Given the description of an element on the screen output the (x, y) to click on. 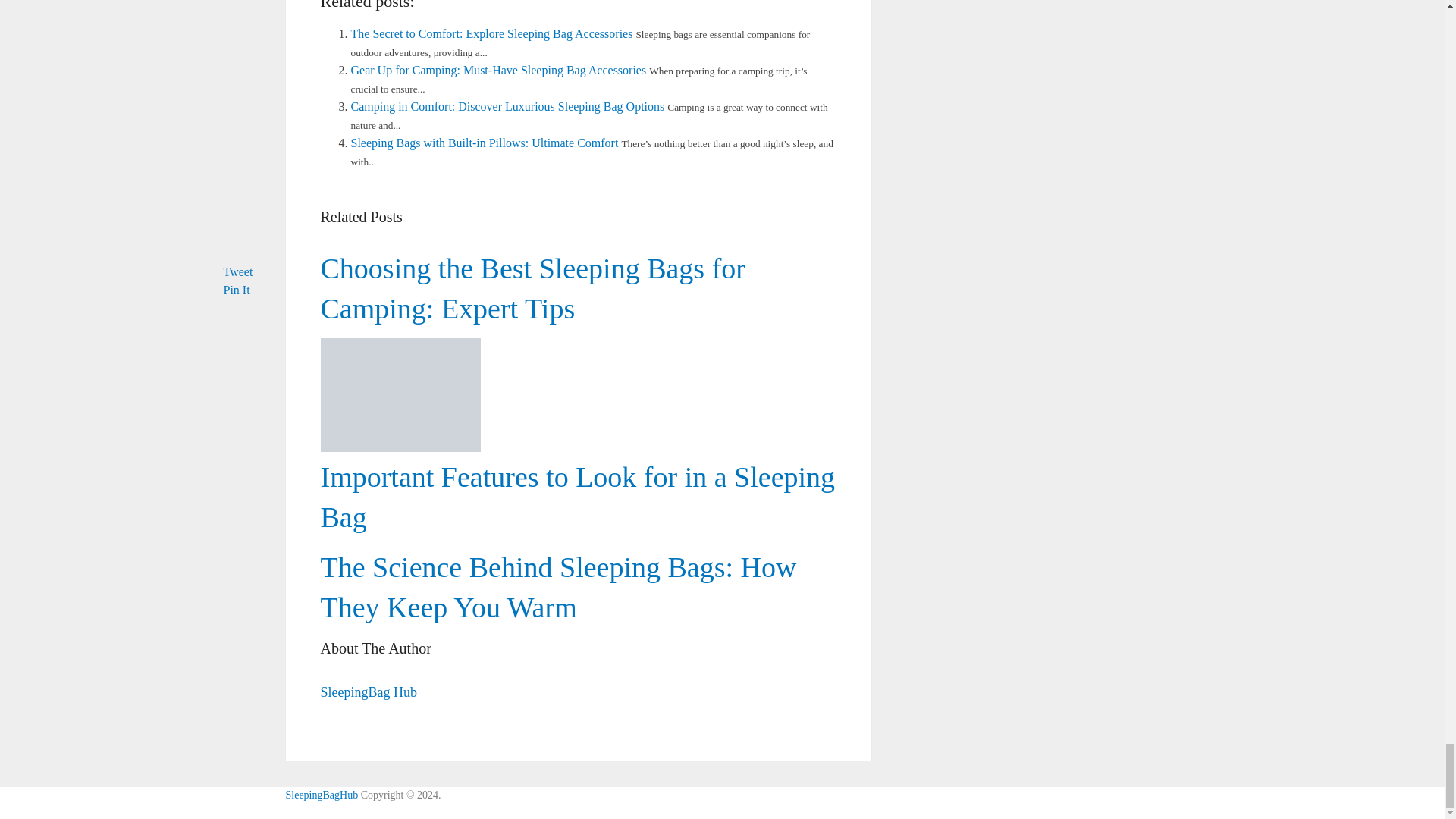
The Secret to Comfort: Explore Sleeping Bag Accessories (490, 33)
Choosing the Best Sleeping Bags for Camping: Expert Tips (532, 288)
Important Features to Look for in a Sleeping Bag 1 (400, 395)
 SleepingBagHub (321, 794)
The Secret to Comfort: Explore Sleeping Bag Accessories (490, 33)
Gear Up for Camping: Must-Have Sleeping Bag Accessories (498, 69)
Sleeping Bags with Built-in Pillows: Ultimate Comfort (483, 142)
Important Features to Look for in a Sleeping Bag (577, 497)
Important Features to Look for in a Sleeping Bag (577, 352)
Gear Up for Camping: Must-Have Sleeping Bag Accessories (498, 69)
The Science Behind Sleeping Bags: How They Keep You Warm (558, 587)
Camping in Comfort: Discover Luxurious Sleeping Bag Options (506, 106)
